Given the description of an element on the screen output the (x, y) to click on. 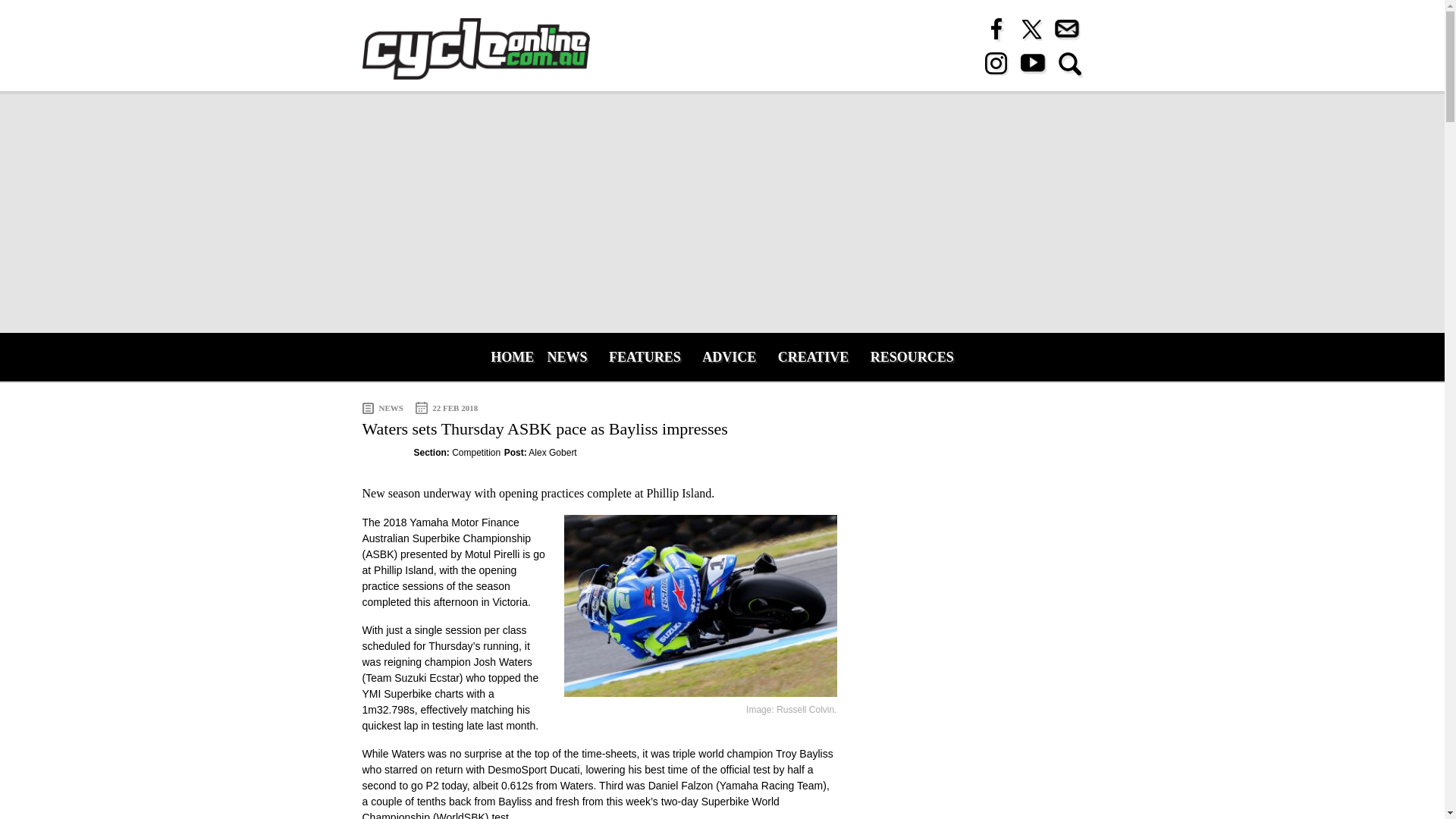
FEATURES (644, 356)
HOME (507, 356)
ADVICE (729, 356)
CREATIVE (813, 356)
RESOURCES (911, 356)
NEWS (567, 356)
Home (475, 48)
